Given the description of an element on the screen output the (x, y) to click on. 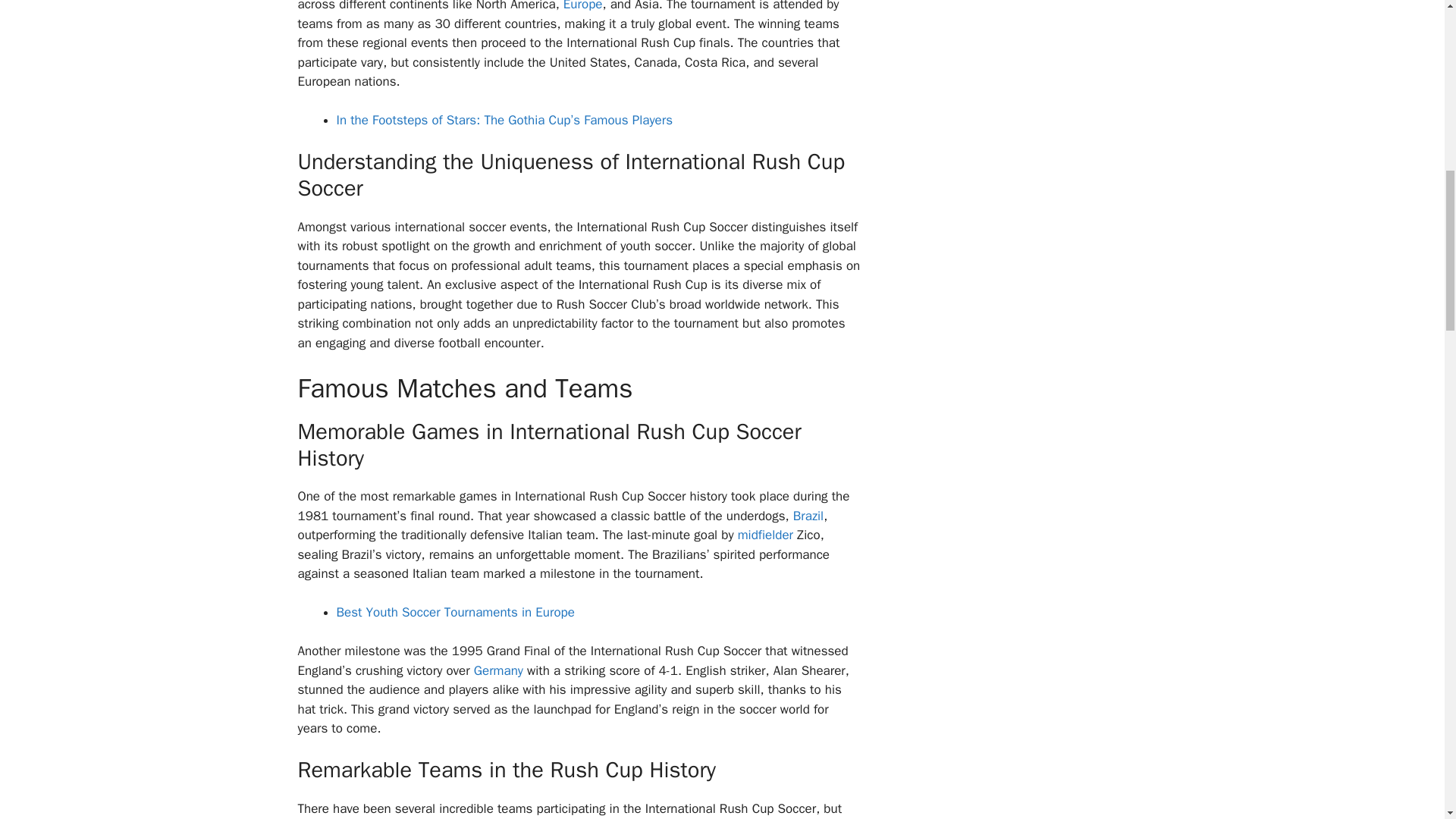
Europe (582, 6)
midfielder (765, 534)
Best Youth Soccer Tournaments in Europe (455, 611)
Brazil (808, 515)
Germany (498, 670)
